Given the description of an element on the screen output the (x, y) to click on. 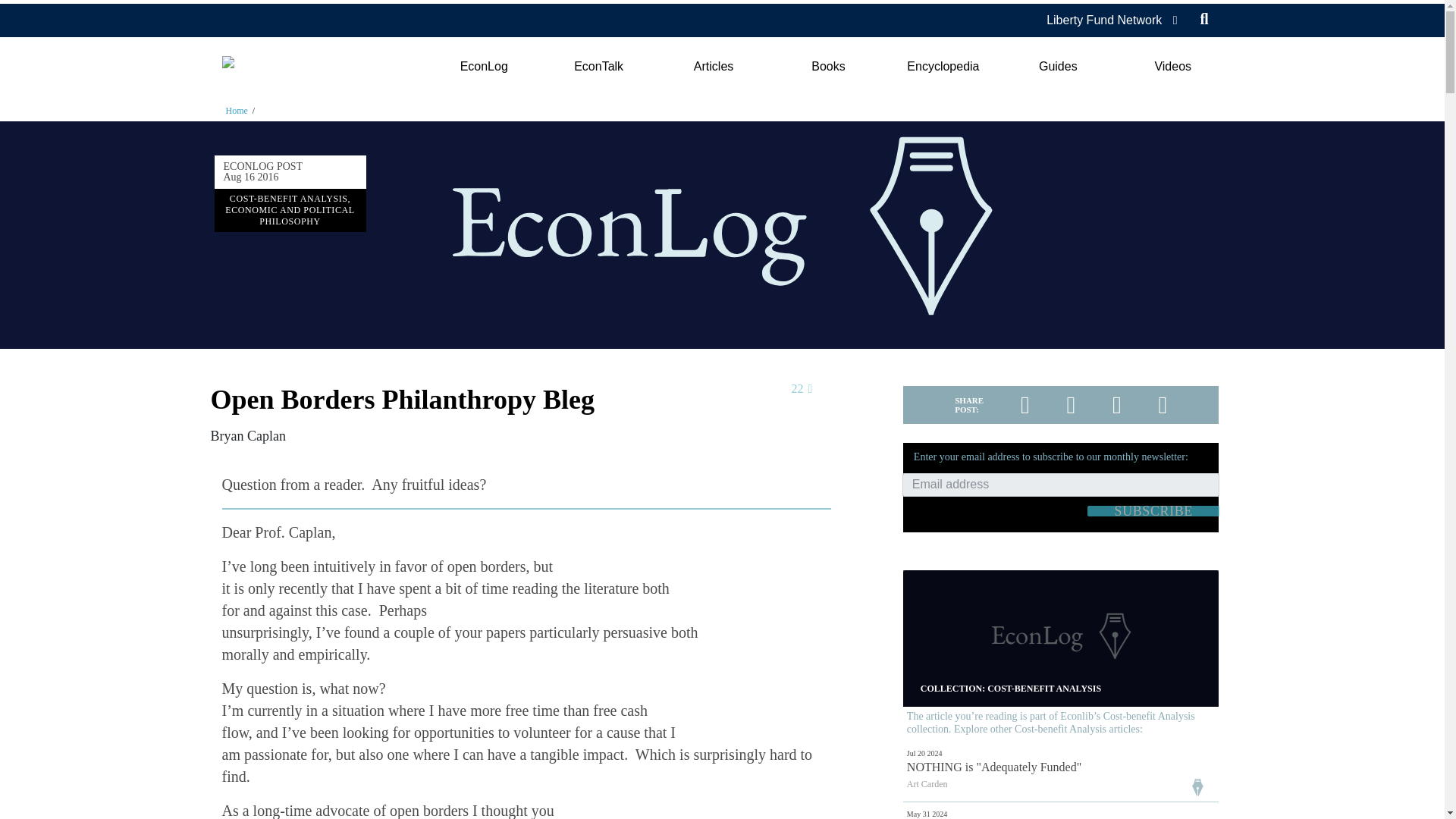
Encyclopedia (942, 66)
Subscribe (1153, 511)
EconLog (483, 66)
Liberty Fund Network (1104, 20)
Books (828, 66)
EconTalk (598, 66)
Bryan Caplan (248, 435)
Articles (713, 66)
